Given the description of an element on the screen output the (x, y) to click on. 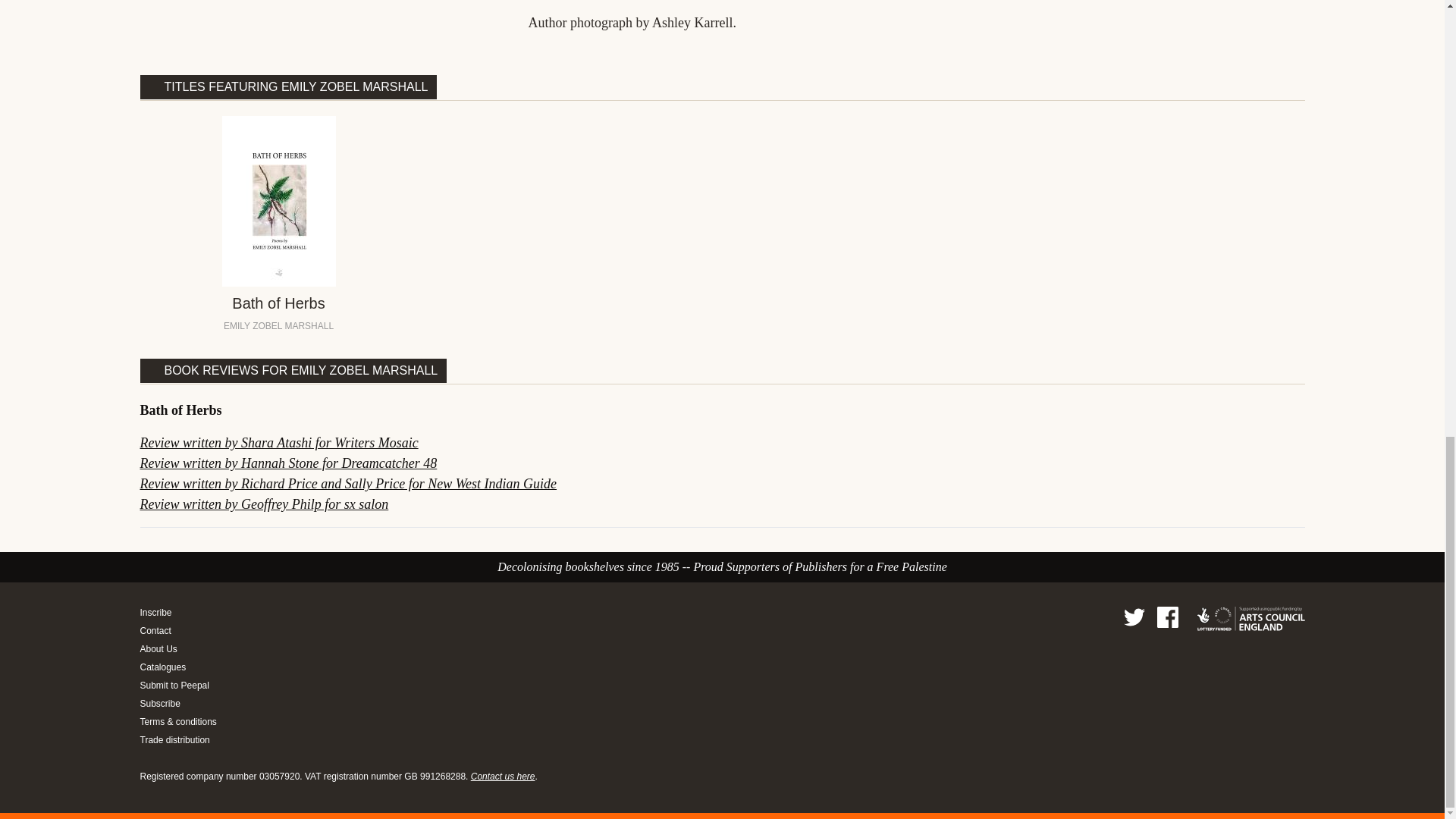
Review written by Hannah Stone for Dreamcatcher 48 (287, 462)
Subscribe (177, 703)
Review written by Shara Atashi for Writers Mosaic (278, 442)
About Us (177, 648)
Trade distribution (177, 739)
Contact (177, 630)
Sign up to our newsletter (177, 703)
Contact us here (502, 776)
Inscribe writer development programme (177, 612)
Catalogues (177, 666)
Review written by Geoffrey Philp for sx salon (263, 503)
EMILY ZOBEL MARSHALL (278, 326)
Trade account information (177, 739)
Submit to Peepal (177, 685)
